Given the description of an element on the screen output the (x, y) to click on. 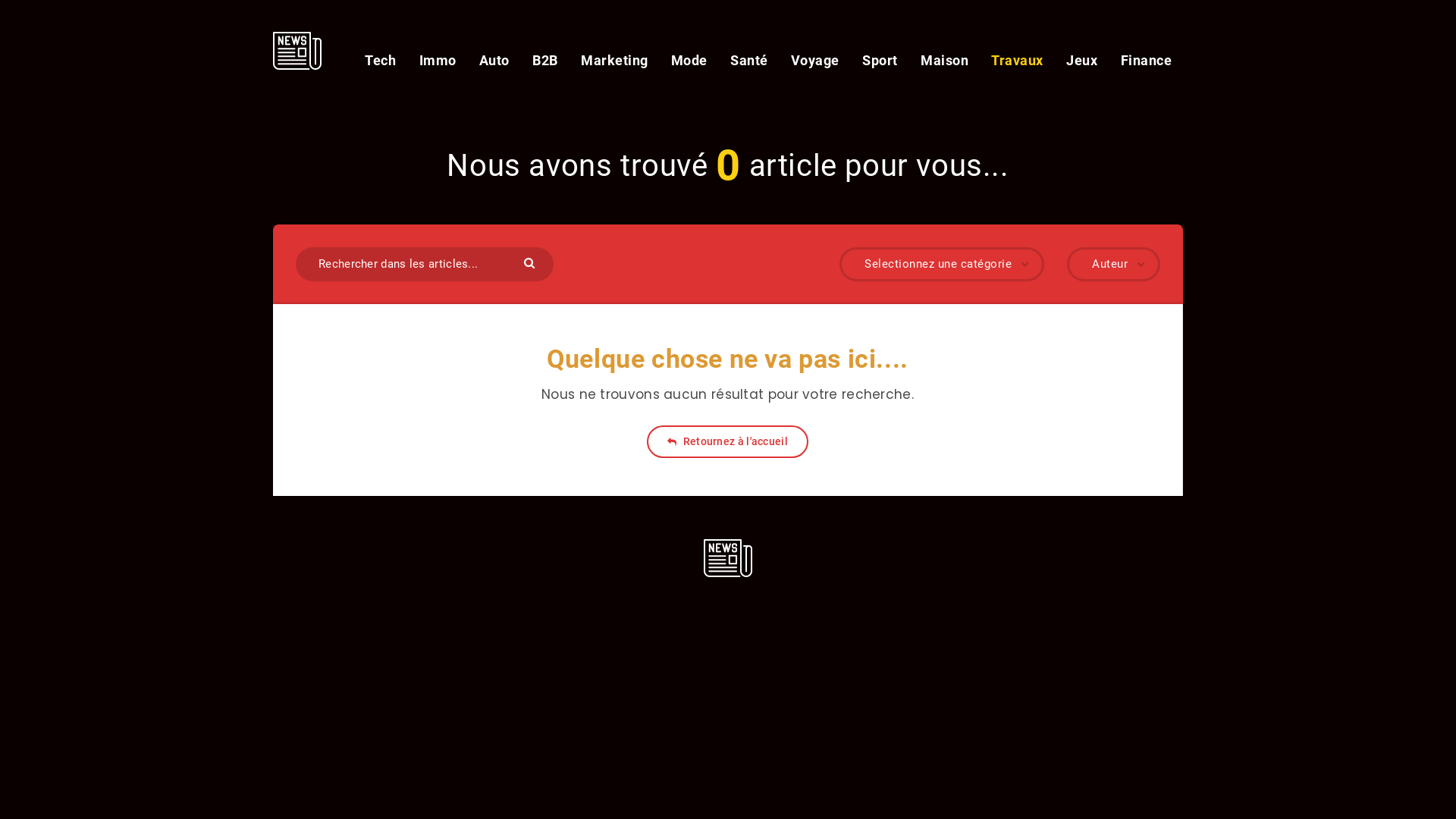
Jeux Element type: text (1081, 60)
Voyage Element type: text (814, 60)
Marketing Element type: text (614, 60)
Travaux Element type: text (1017, 60)
Sport Element type: text (879, 60)
Tech Element type: text (379, 60)
Auto Element type: text (494, 60)
B2B Element type: text (545, 60)
Maison Element type: text (944, 60)
Mode Element type: text (689, 60)
Finance Element type: text (1146, 60)
Immo Element type: text (437, 60)
